Given the description of an element on the screen output the (x, y) to click on. 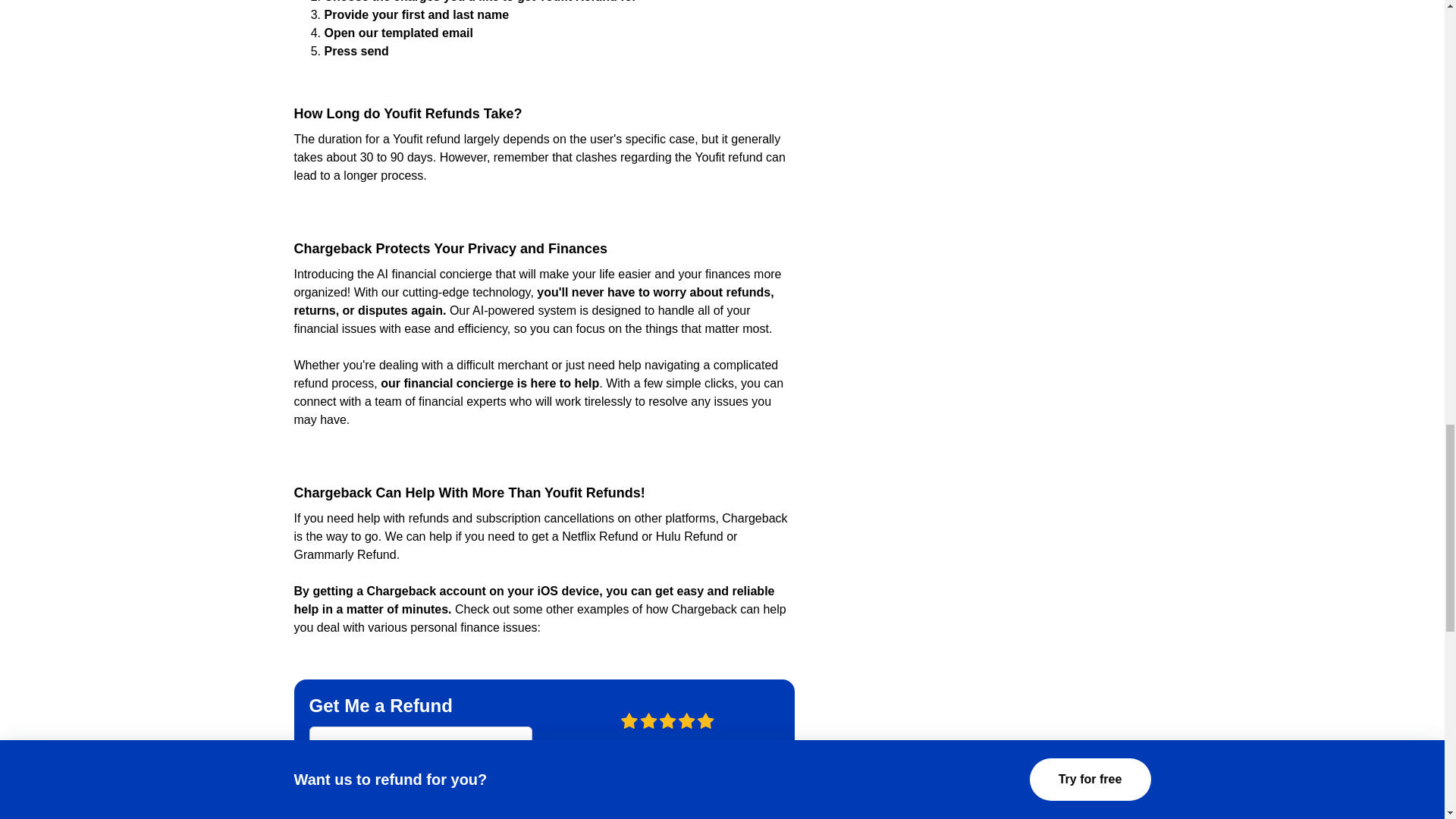
Get Started (420, 795)
Get Started (420, 795)
